Given the description of an element on the screen output the (x, y) to click on. 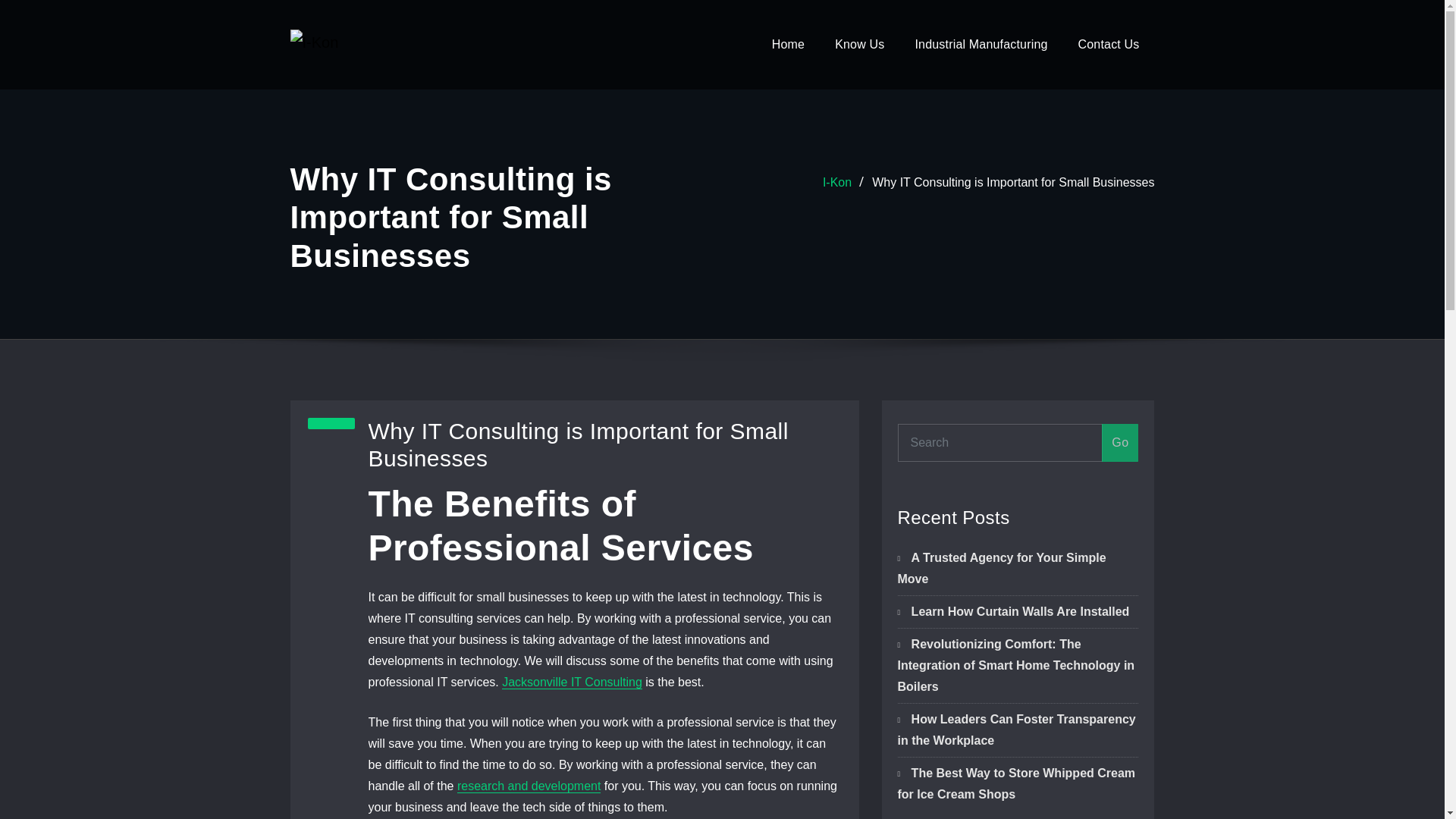
Know Us (859, 44)
How Leaders Can Foster Transparency in the Workplace (1016, 729)
Contact Us (1108, 44)
Go (1120, 442)
A Trusted Agency for Your Simple Move (1002, 568)
I-Kon (836, 182)
Why IT Consulting is Important for Small Businesses (1013, 182)
Jacksonville IT Consulting (572, 681)
research and development (528, 785)
